Given the description of an element on the screen output the (x, y) to click on. 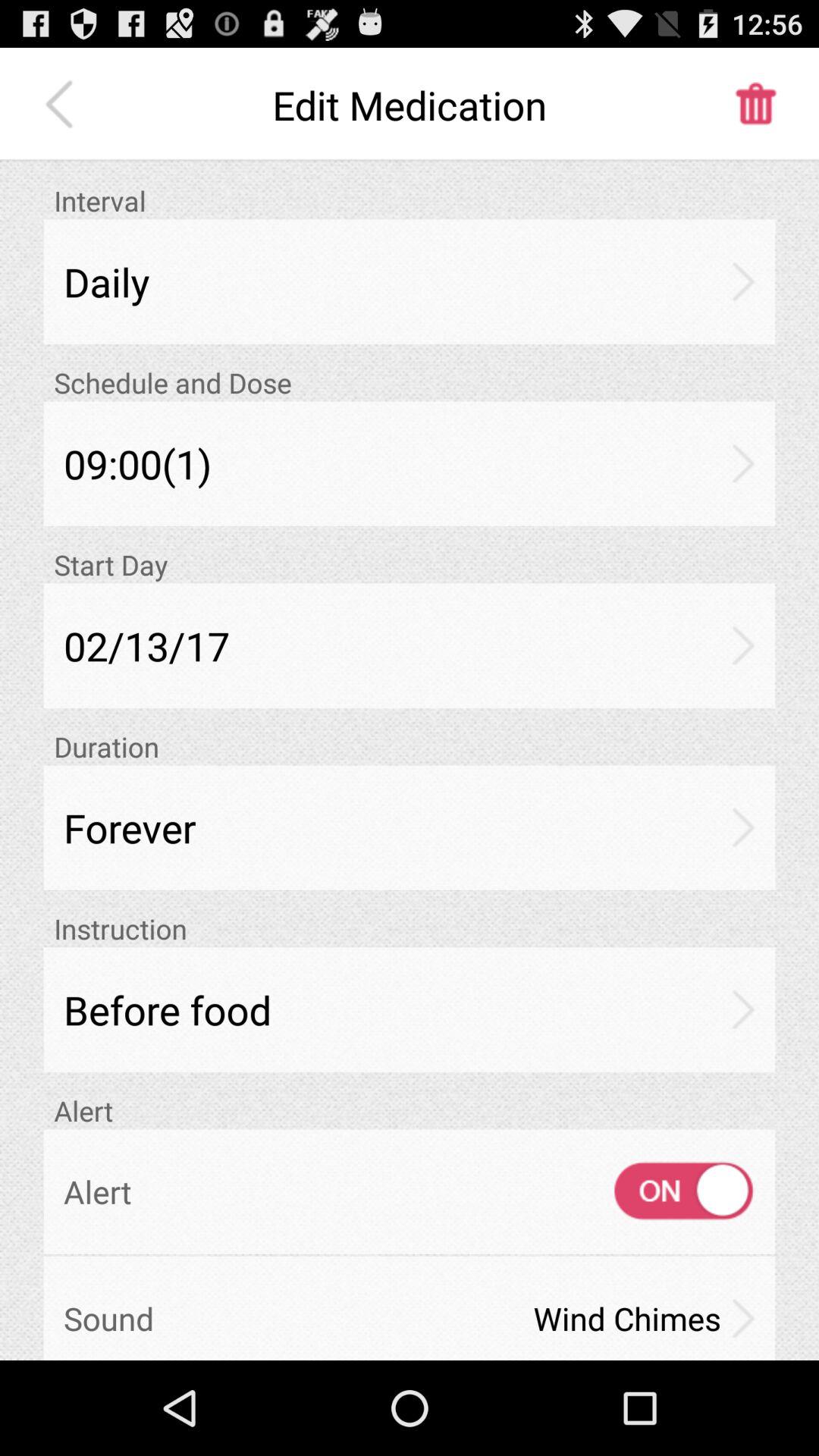
tap item above the interval item (63, 104)
